Given the description of an element on the screen output the (x, y) to click on. 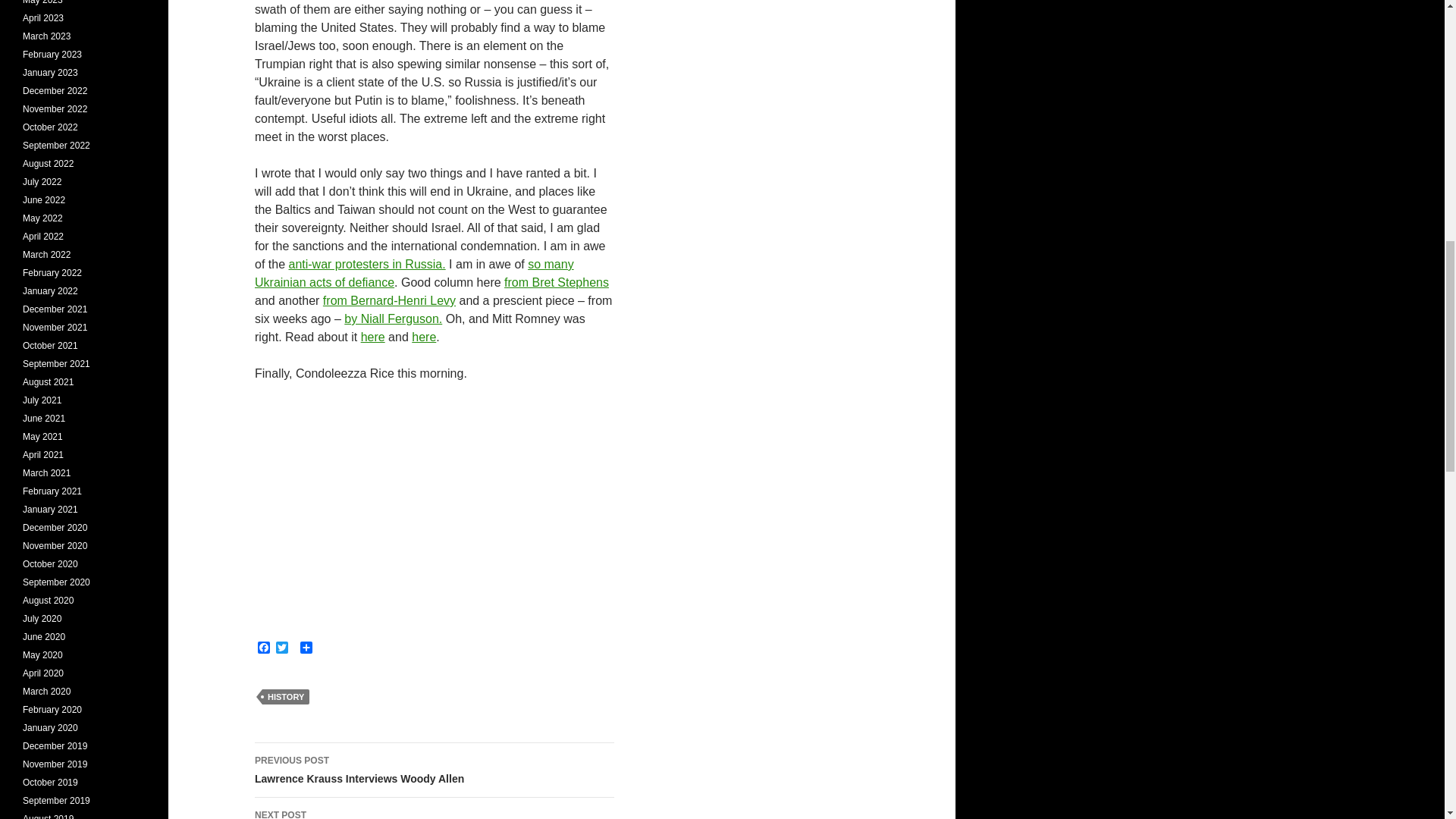
Facebook (434, 808)
so many Ukrainian acts of defiance (263, 648)
anti-war protesters in Russia. (413, 273)
by Niall Ferguson. (366, 264)
Facebook (392, 318)
here (263, 648)
Twitter (373, 336)
